Given the description of an element on the screen output the (x, y) to click on. 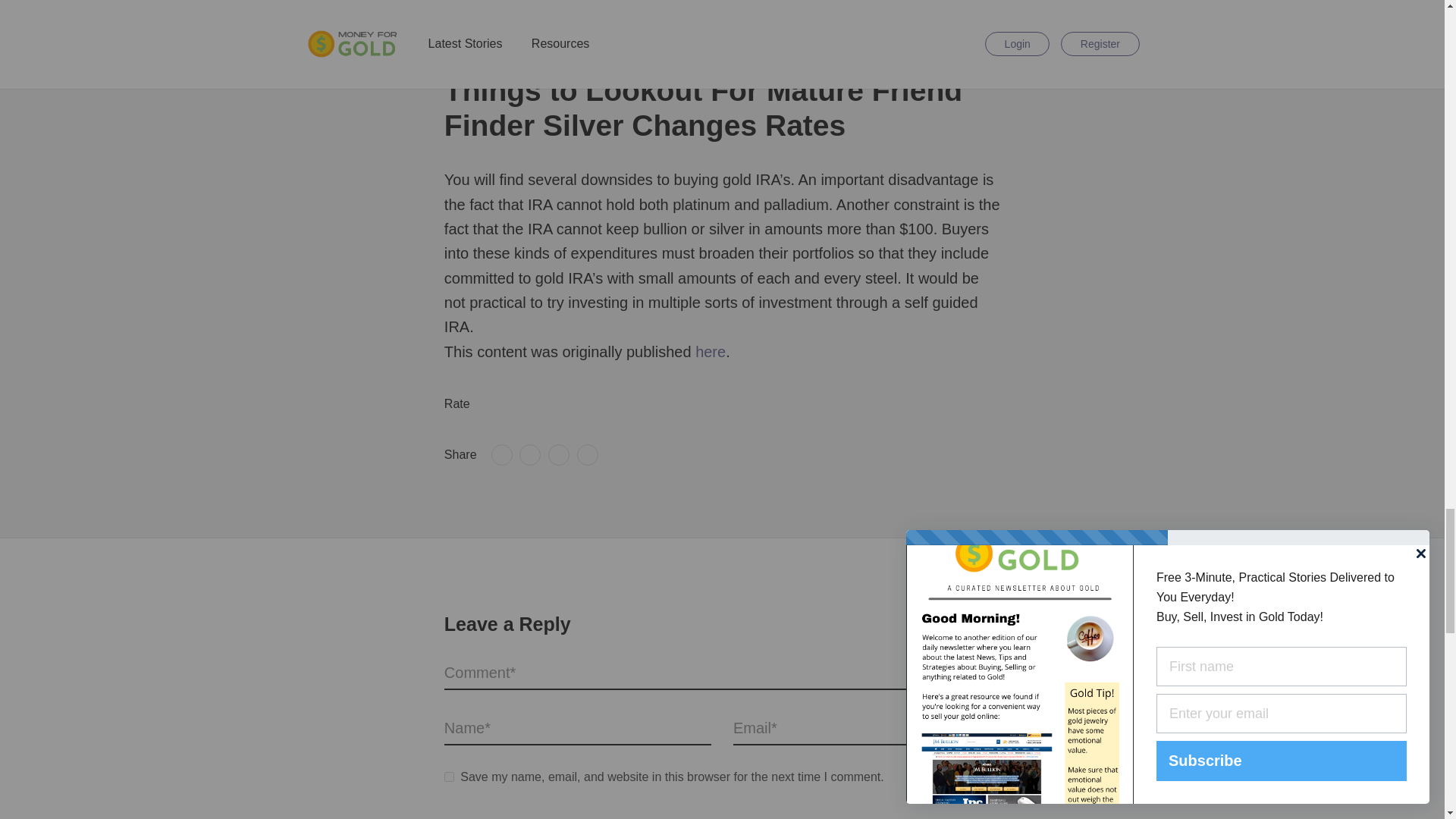
Email (586, 455)
Twitter (529, 455)
1 star (487, 404)
4 stars (529, 404)
Facebook (502, 455)
2 stars (501, 404)
Email (586, 455)
Twitter (529, 455)
Facebook (502, 455)
Pinterest (558, 455)
